Given the description of an element on the screen output the (x, y) to click on. 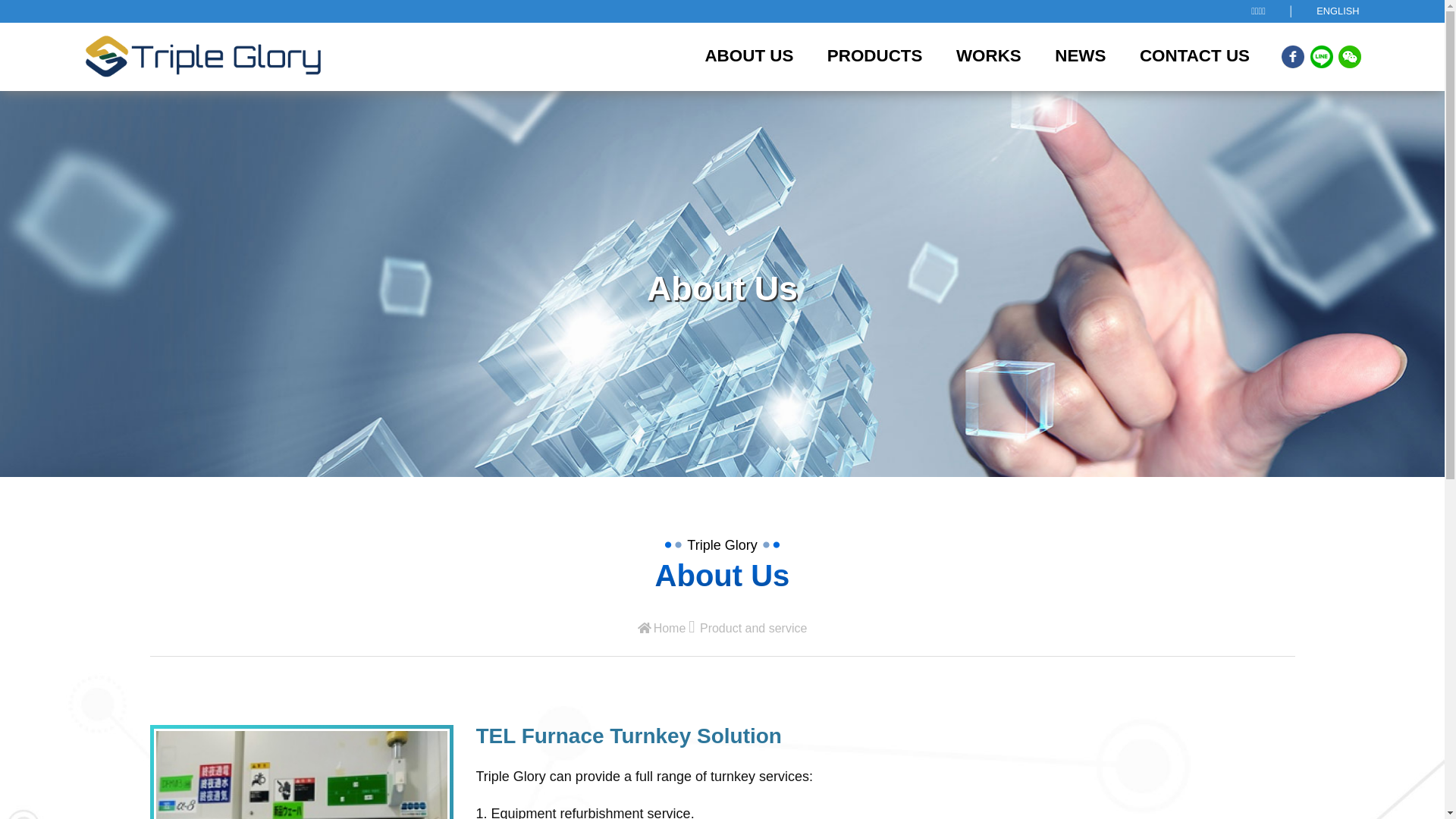
Product and service Element type: text (752, 628)
NEWS Element type: text (1079, 55)
ABOUT US Element type: text (748, 55)
Home Element type: text (661, 628)
WORKS Element type: text (988, 55)
CONTACT US Element type: text (1194, 55)
ENGLISH Element type: text (1337, 10)
PRODUCTS Element type: text (875, 55)
